Given the description of an element on the screen output the (x, y) to click on. 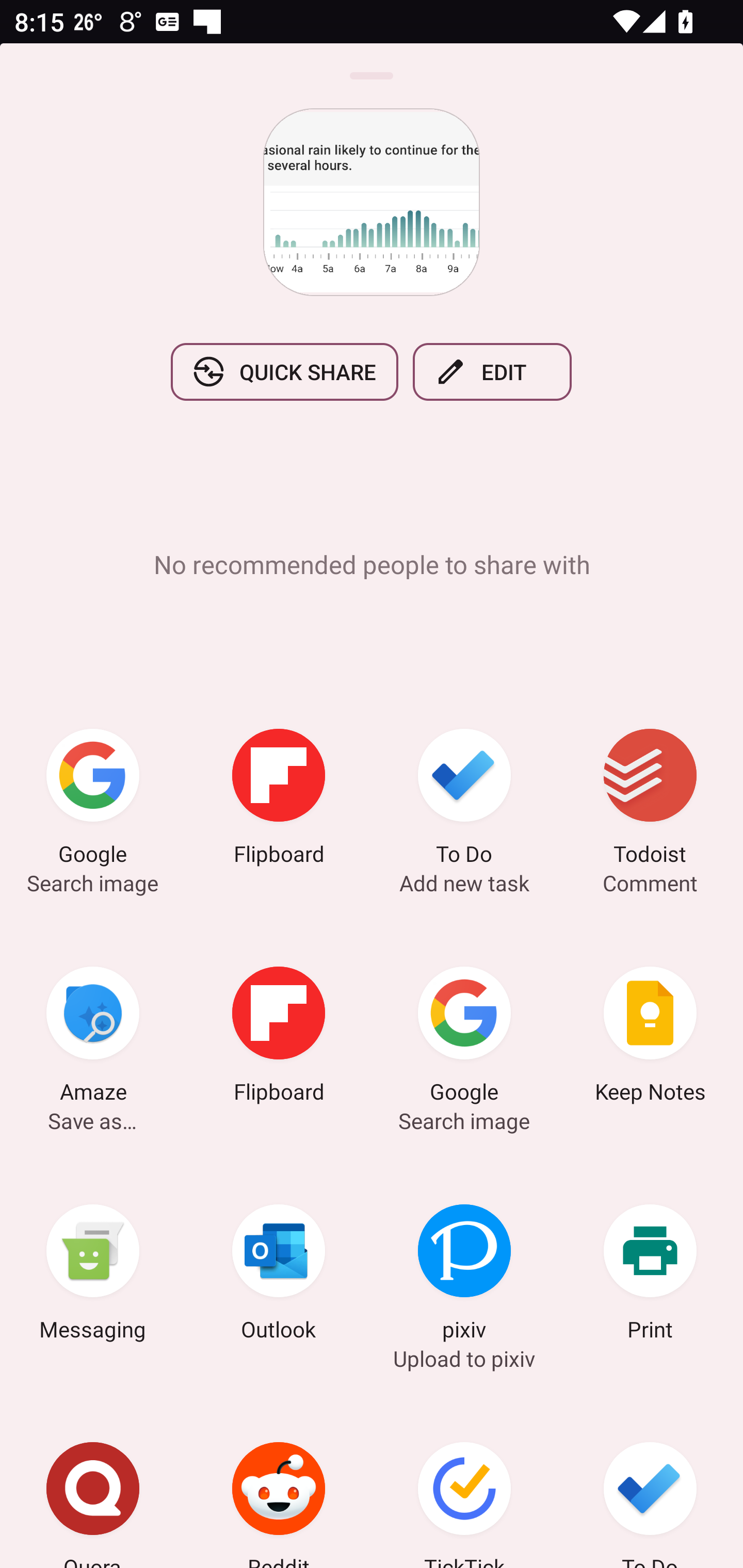
QUICK SHARE (284, 372)
EDIT (492, 372)
Google Search image (92, 800)
Flipboard (278, 800)
To Do Add new task (464, 800)
Todoist Comment (650, 800)
Amaze Save as… (92, 1037)
Flipboard (278, 1037)
Google Search image (464, 1037)
Keep Notes (650, 1037)
Messaging (92, 1275)
Outlook (278, 1275)
pixiv Upload to pixiv (464, 1275)
Print (650, 1275)
Quora (92, 1480)
Reddit (278, 1480)
TickTick (464, 1480)
To Do (650, 1480)
